Given the description of an element on the screen output the (x, y) to click on. 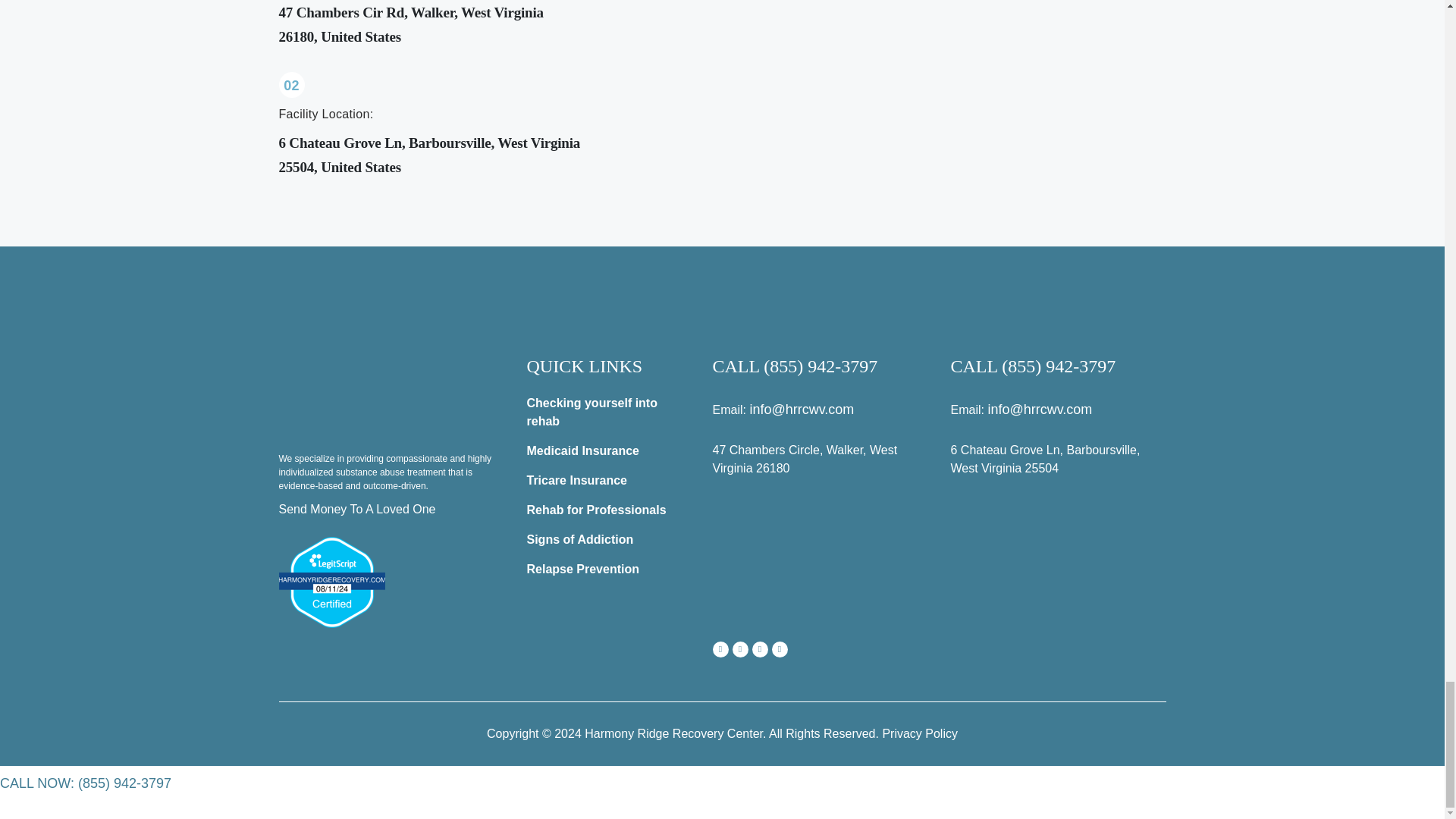
Google Map (820, 555)
facebook (721, 649)
linkedin (779, 649)
Verify LegitScript Approval (332, 581)
instagram (740, 649)
Google Map (1058, 555)
twitter (760, 649)
